Given the description of an element on the screen output the (x, y) to click on. 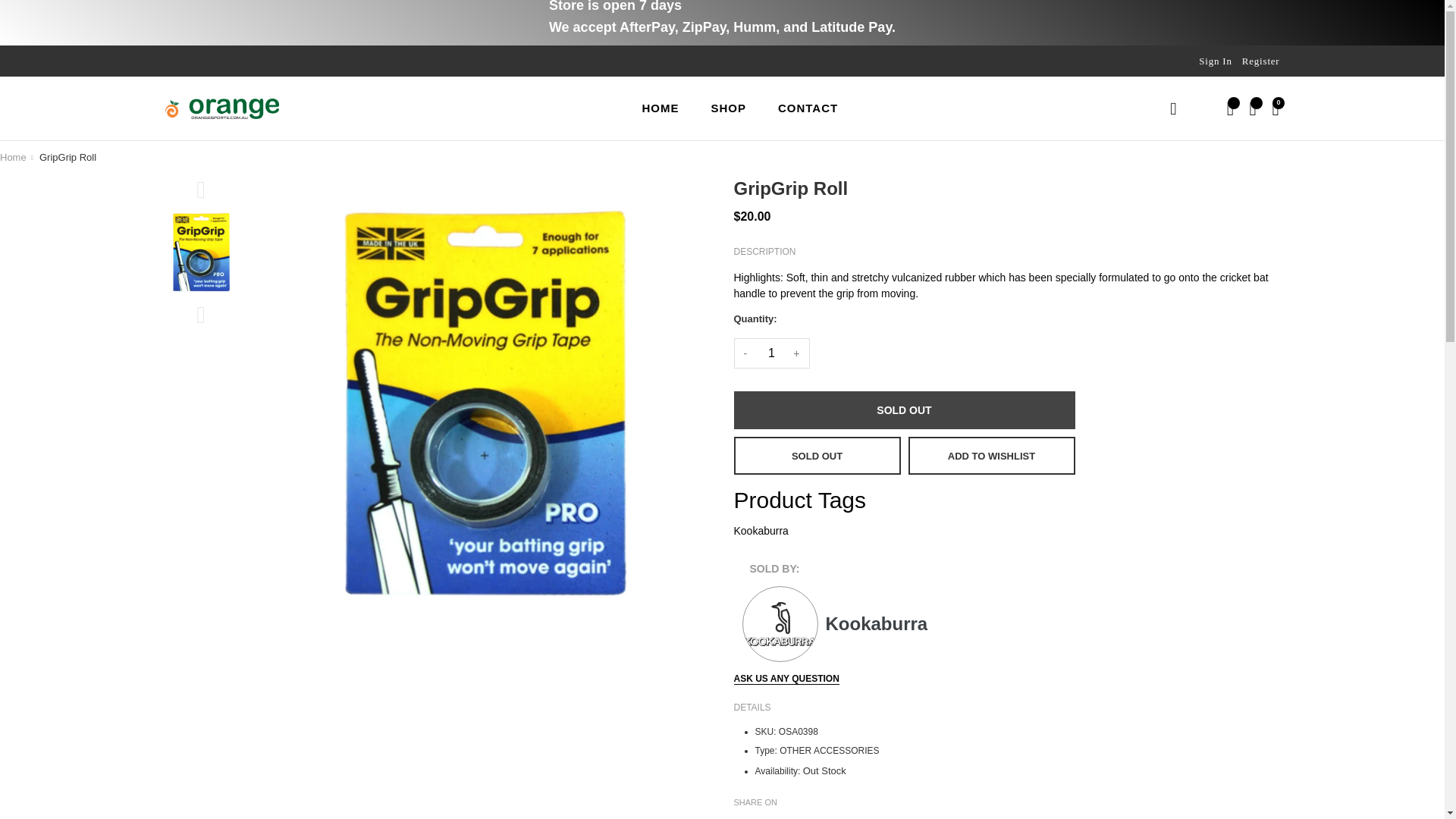
SOLD OUT (904, 410)
Sign In (1214, 60)
Home (13, 157)
SHOP (728, 107)
GripGrip Roll (67, 157)
CONTACT (807, 107)
Register (1260, 60)
ADD TO WISHLIST (991, 455)
Orange Sports Aus (13, 157)
1 (771, 353)
